Given the description of an element on the screen output the (x, y) to click on. 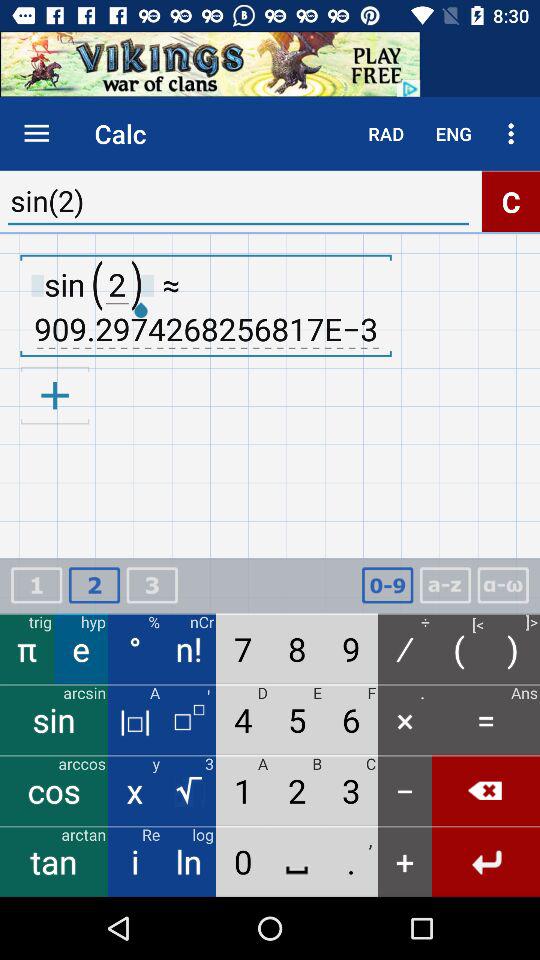
go to page 2 (94, 585)
